Given the description of an element on the screen output the (x, y) to click on. 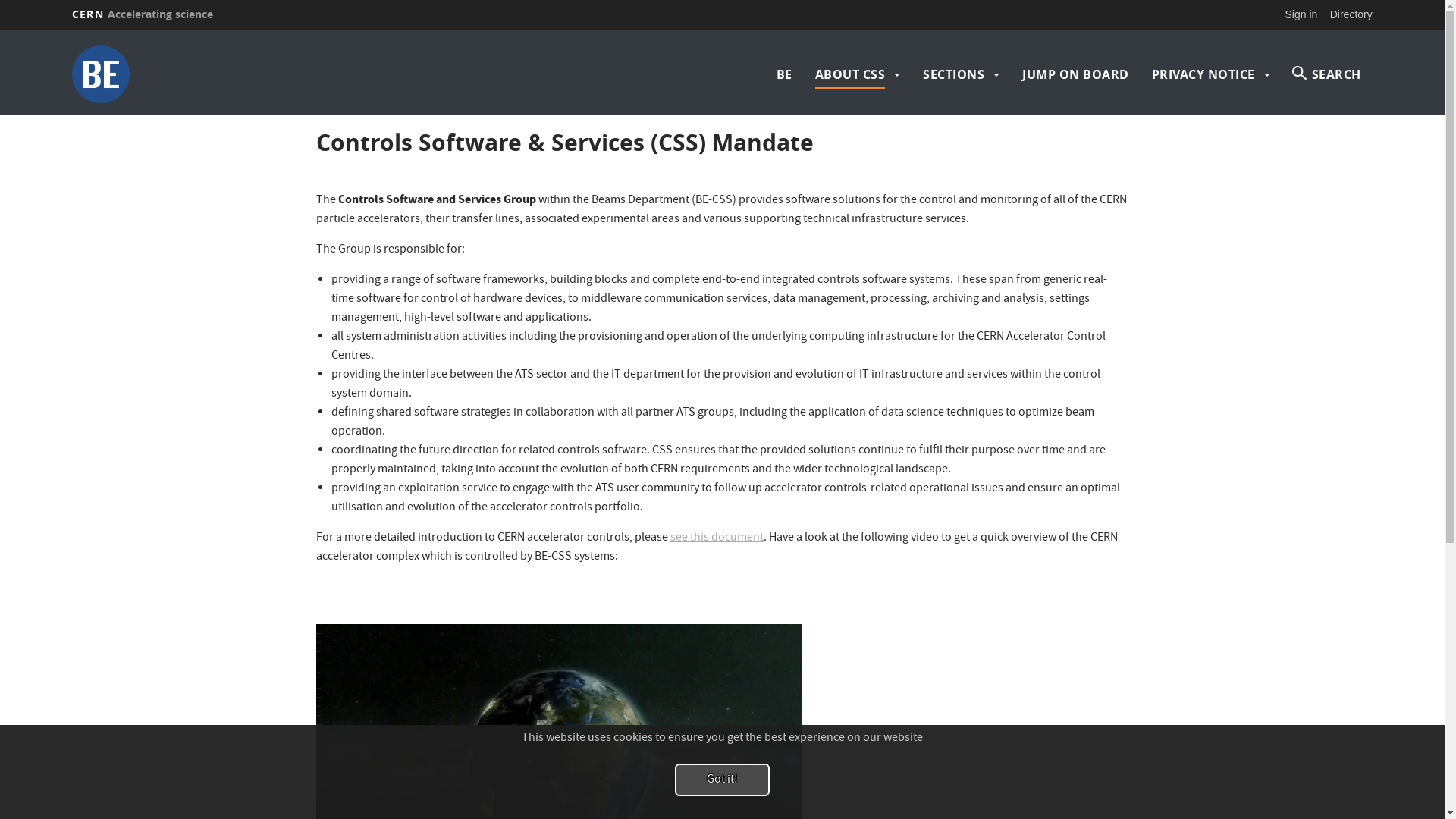
see this document Element type: text (716, 538)
Directory Element type: text (1351, 14)
Sign in Element type: text (1301, 14)
Got it! Element type: text (721, 779)
Skip to main content Element type: text (0, 30)
ABOUT CSS Element type: text (850, 74)
Home Element type: hover (230, 74)
SEARCH Element type: text (1326, 74)
BE Element type: text (784, 74)
SECTIONS Element type: text (953, 74)
CERN Accelerating science Element type: text (142, 14)
PRIVACY NOTICE Element type: text (1203, 74)
JUMP ON BOARD Element type: text (1075, 74)
